Given the description of an element on the screen output the (x, y) to click on. 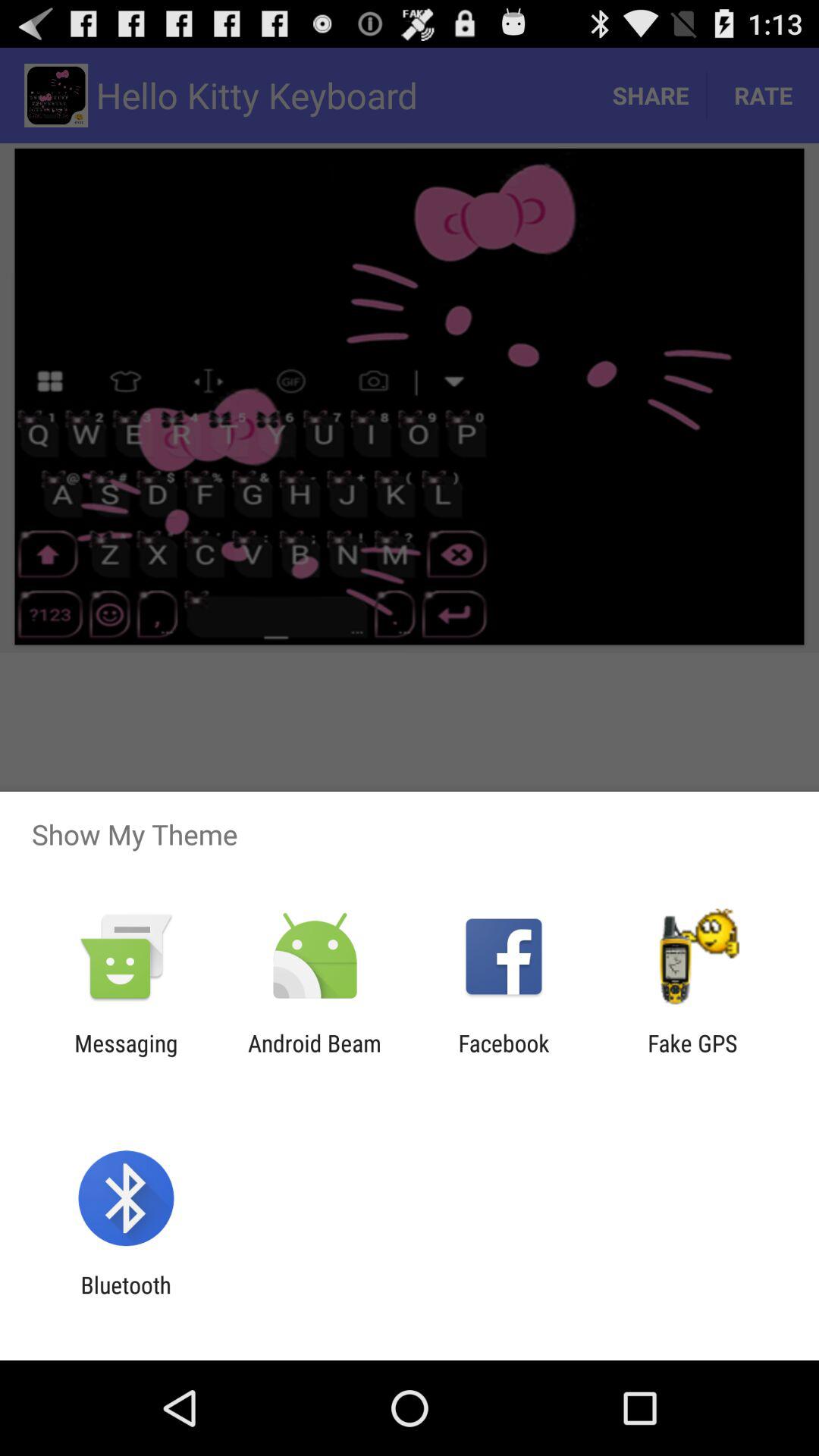
select icon next to facebook item (692, 1056)
